Given the description of an element on the screen output the (x, y) to click on. 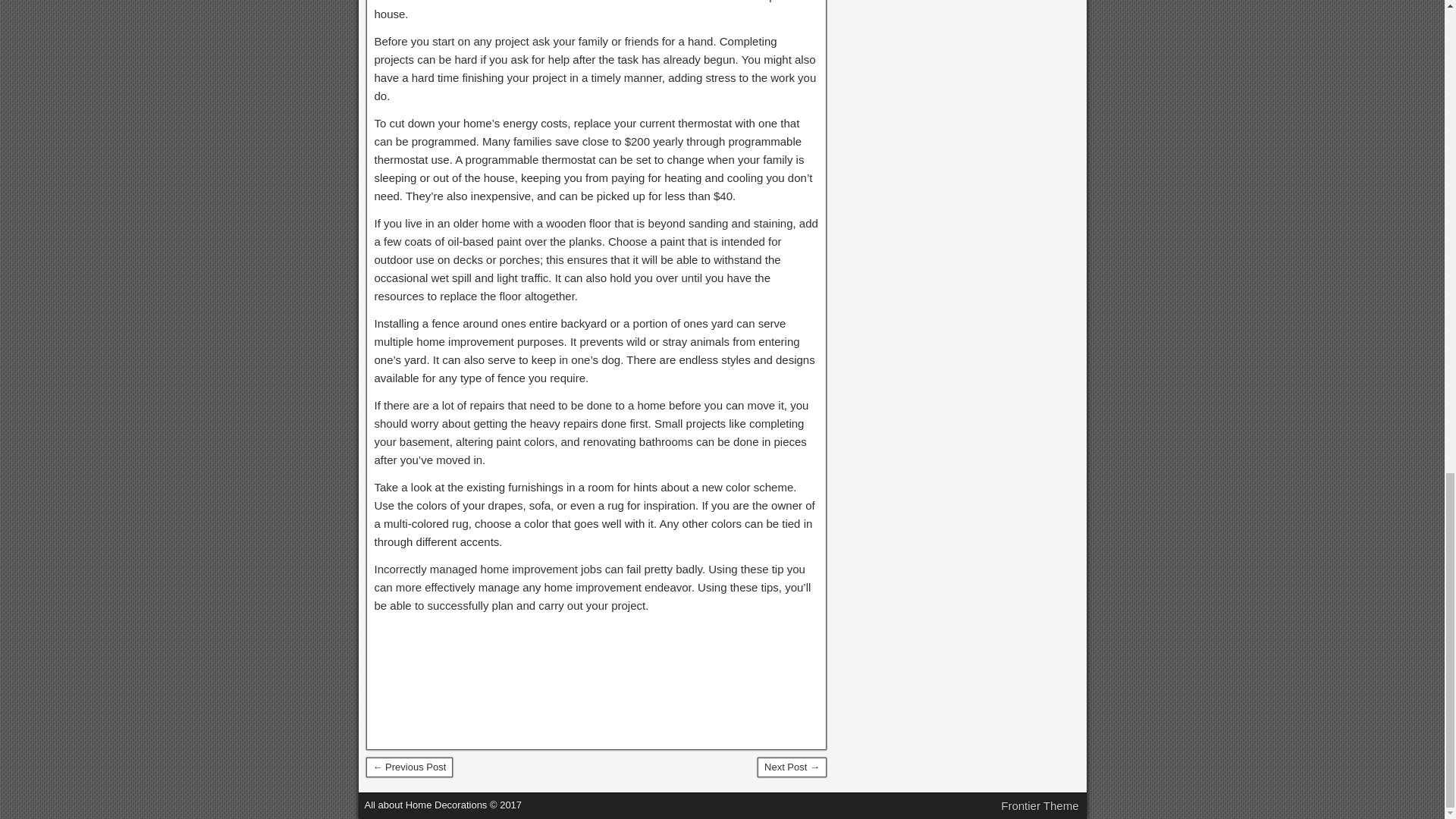
Advertisement (596, 679)
Home Tips That Will Improve Your Living (408, 767)
DIY Home Improvement Advice Everyone Should Know (792, 767)
Frontier Theme (1039, 805)
